Given the description of an element on the screen output the (x, y) to click on. 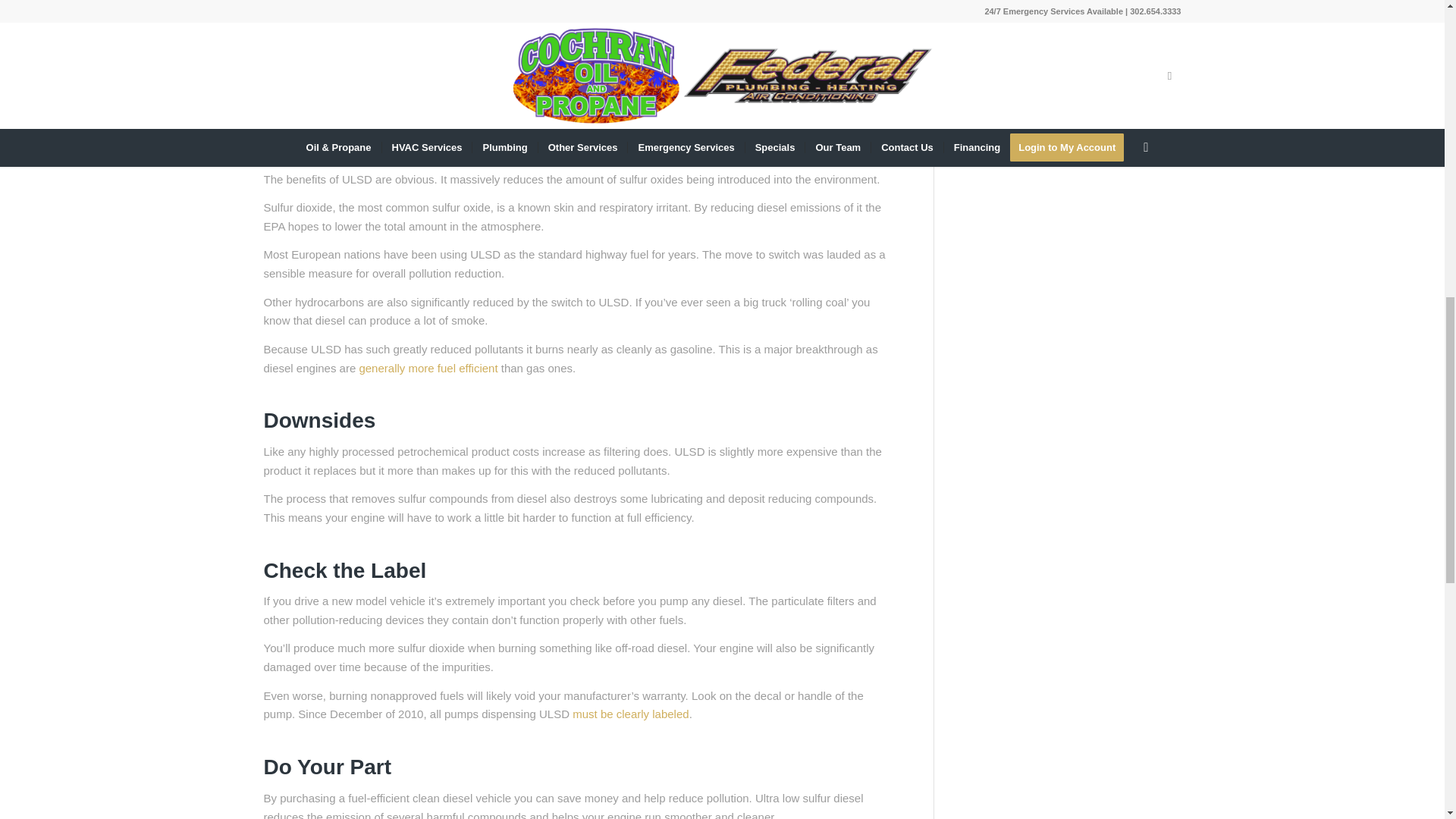
generally more fuel efficient (427, 367)
fuels like furnace oil (606, 94)
must be clearly labeled (630, 713)
